Given the description of an element on the screen output the (x, y) to click on. 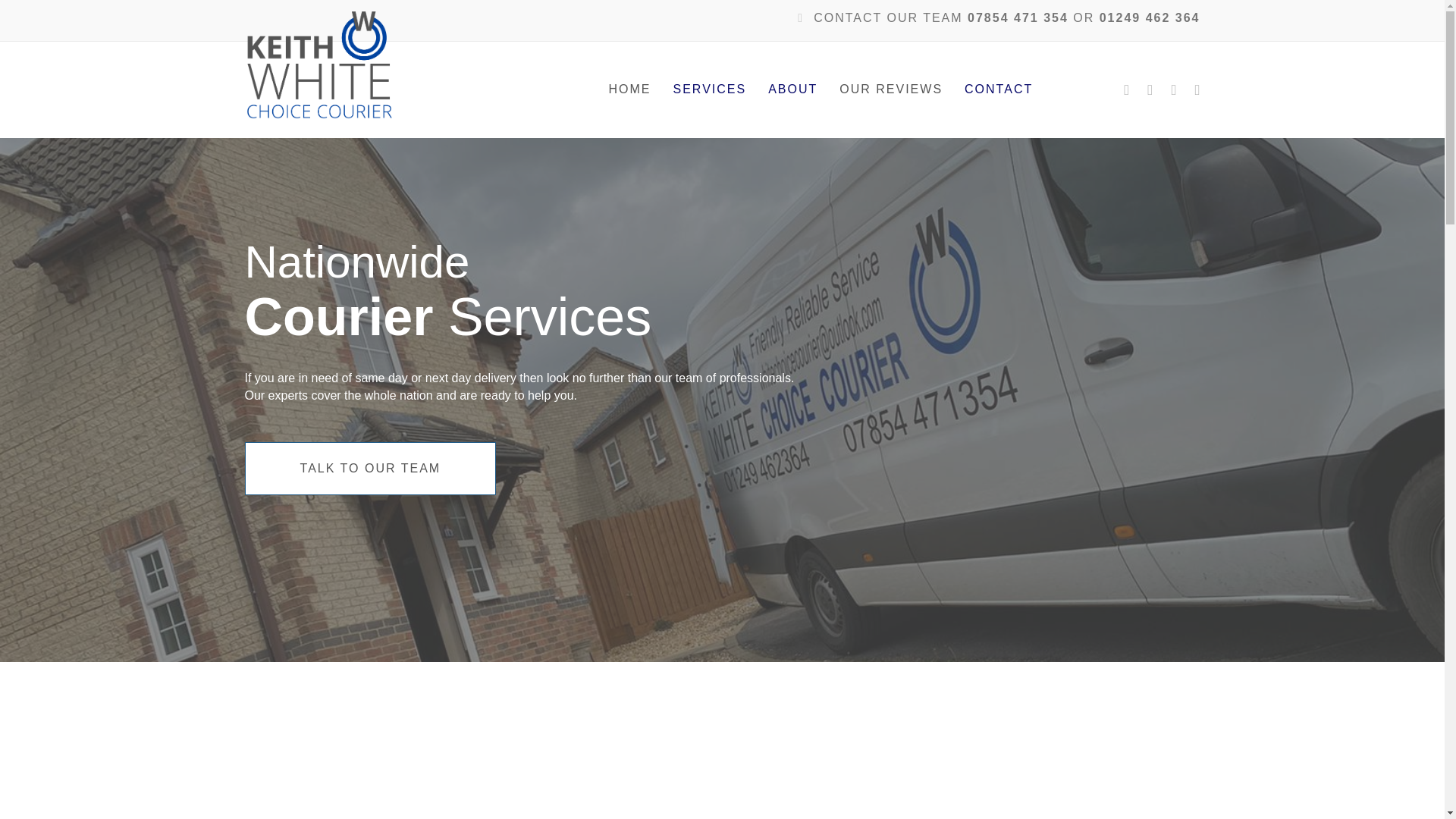
TALK TO OUR TEAM (370, 468)
ABOUT (792, 89)
OUR REVIEWS (890, 89)
CONTACT (998, 89)
Send Message (1089, 734)
Courier Services (447, 316)
HOME (630, 89)
Keith (317, 66)
SERVICES (709, 89)
